Given the description of an element on the screen output the (x, y) to click on. 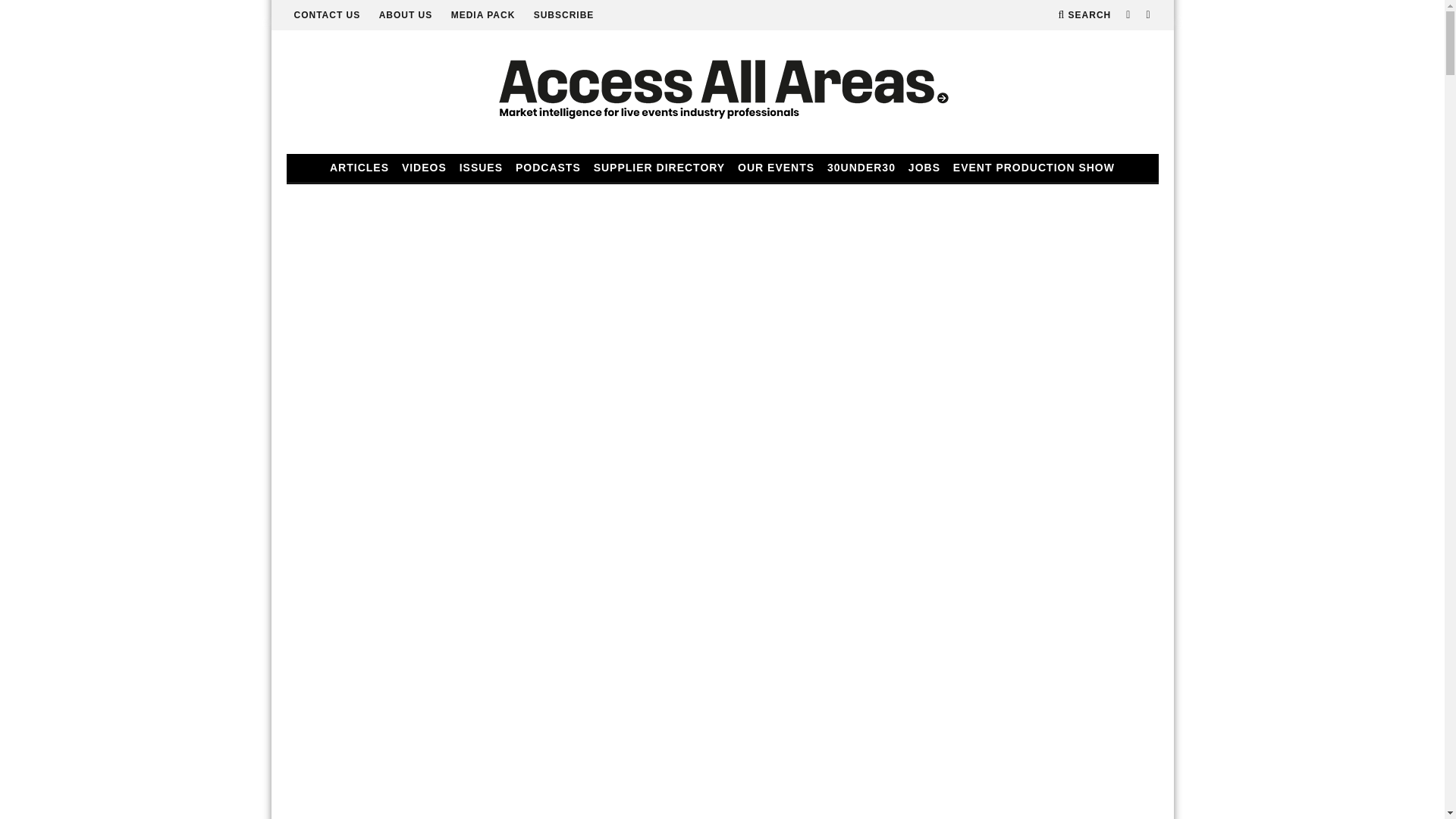
Search (1084, 15)
VIDEOS (424, 167)
CONTACT US (327, 15)
Log In (721, 413)
SUBSCRIBE (564, 15)
ARTICLES (358, 167)
SEARCH (1084, 15)
ABOUT US (405, 15)
MEDIA PACK (483, 15)
